Given the description of an element on the screen output the (x, y) to click on. 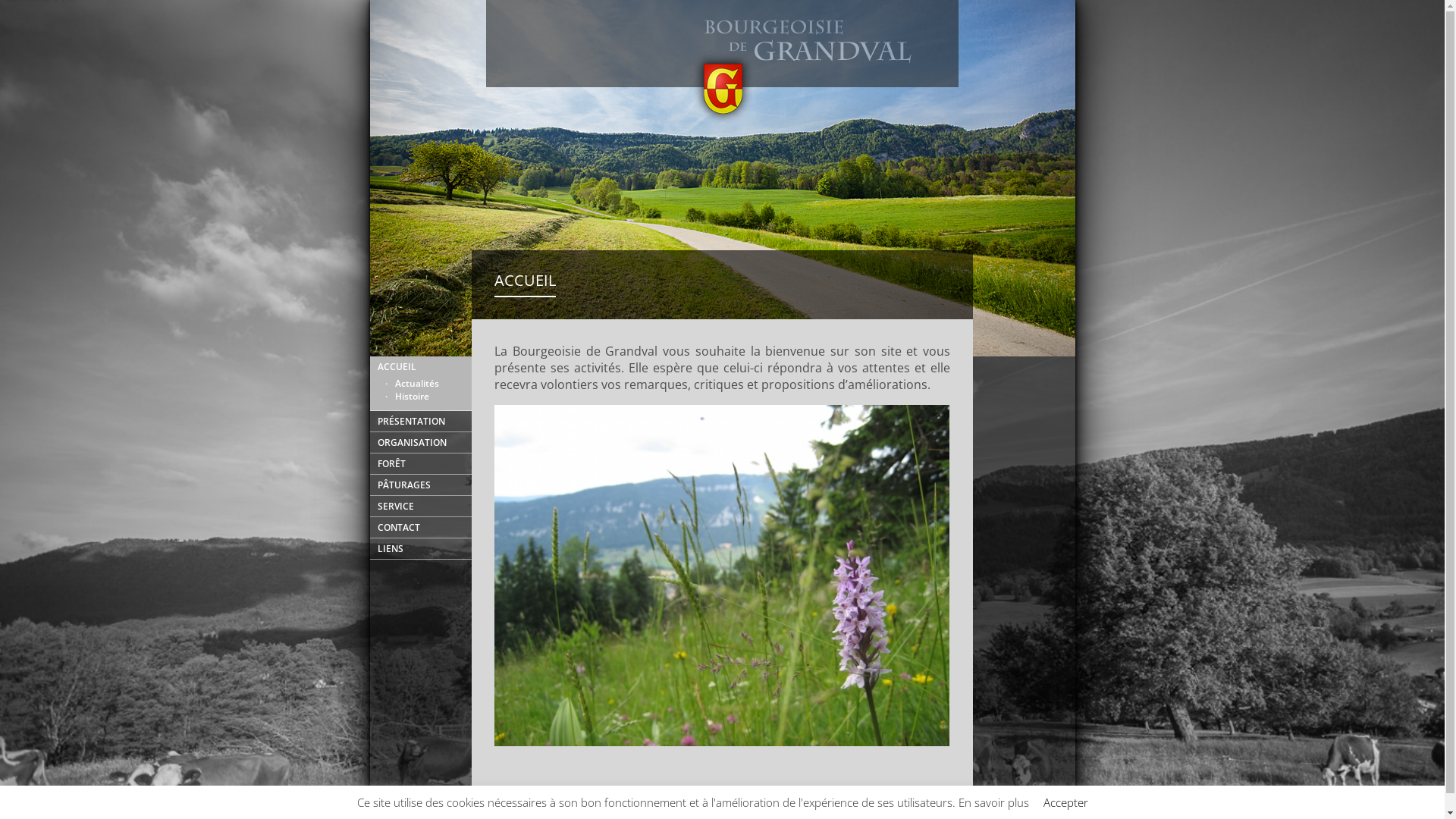
Accepter Element type: text (1065, 801)
CONTACT Element type: text (430, 527)
SERVICE Element type: text (430, 506)
Histoire Element type: text (430, 395)
ACCUEIL Element type: text (430, 366)
ORGANISATION Element type: text (430, 442)
En savoir plus Element type: text (993, 801)
LIENS Element type: text (430, 548)
